Given the description of an element on the screen output the (x, y) to click on. 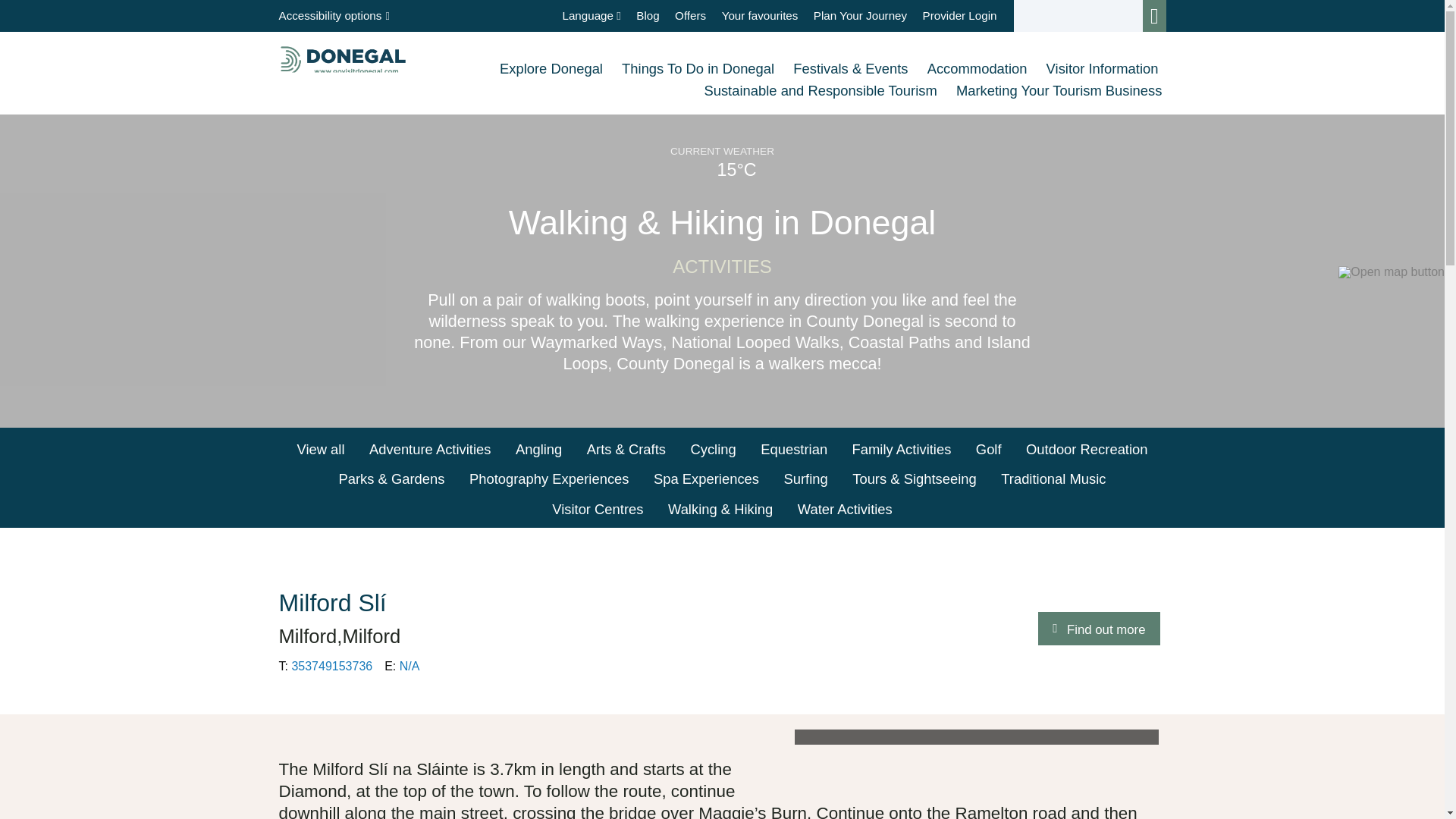
Visit Visitor Information (1102, 69)
View Blog (647, 15)
Visit Sustainable and Responsible Tourism (821, 91)
View Language Options (591, 15)
Explore Donegal (553, 69)
Plan Your Journey (860, 15)
Language (591, 15)
Equestrian (793, 452)
Visit Accommodation (978, 69)
Your favourites (759, 15)
